Given the description of an element on the screen output the (x, y) to click on. 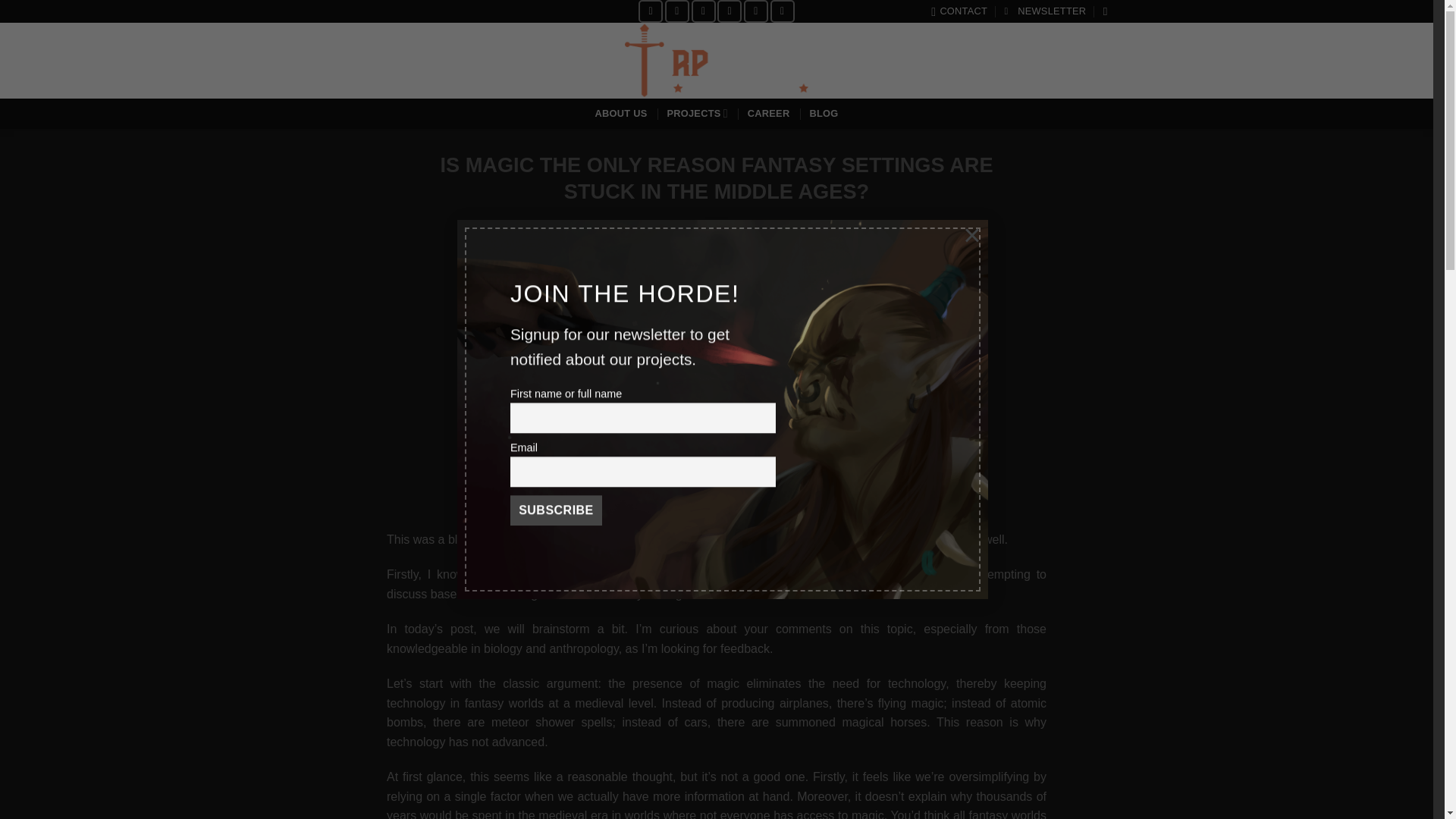
Subscribe (555, 511)
Subscribe (555, 511)
CONTACT (959, 11)
Follow on Instagram (676, 11)
ABOUT US (621, 113)
PROJECTS (696, 112)
JOIN THE HORDE! (1045, 11)
NEWSLETTER (1045, 11)
Follow on X (729, 11)
Follow on Facebook (650, 11)
RPCRAFTPUBLISHING (790, 235)
Follow on YouTube (756, 11)
CAREER (769, 113)
Follow on TikTok (703, 11)
MARCH 13, 2024 (686, 235)
